Given the description of an element on the screen output the (x, y) to click on. 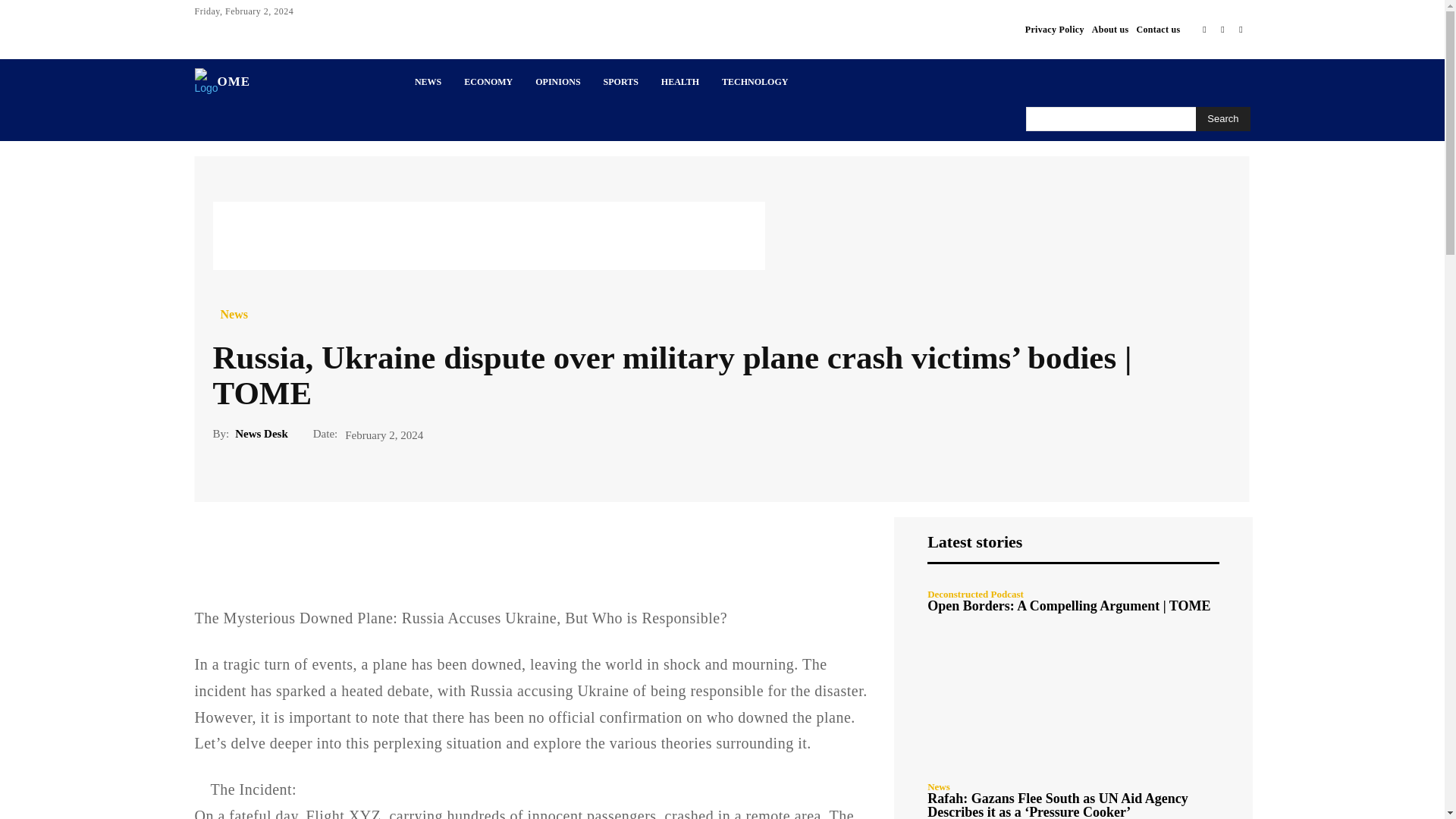
Twitter (1221, 29)
News (233, 314)
SPORTS (620, 81)
Search (1222, 119)
Contact us (1157, 29)
TECHNOLOGY (754, 81)
ECONOMY (488, 81)
HEALTH (679, 81)
OPINIONS (557, 81)
Privacy Policy (1054, 29)
